Given the description of an element on the screen output the (x, y) to click on. 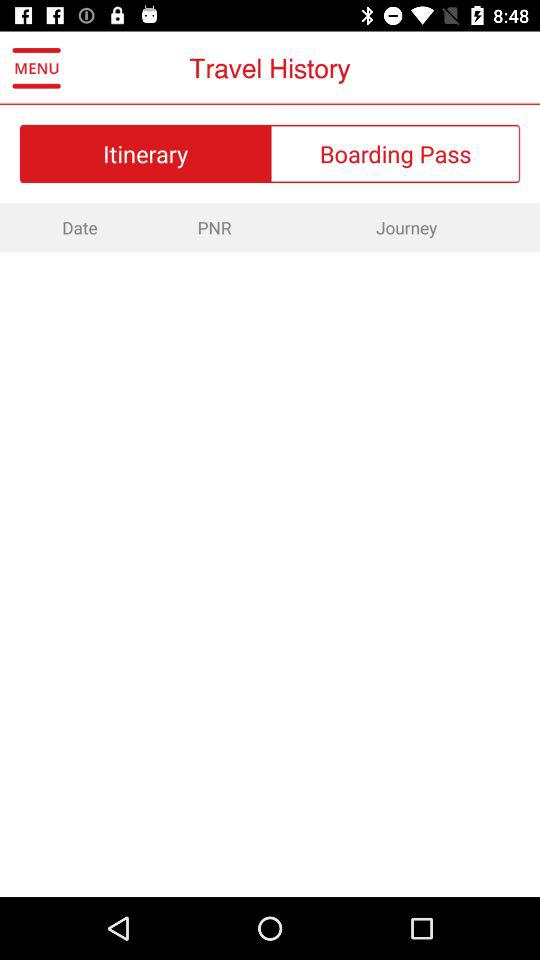
press the item below travel history (395, 153)
